Given the description of an element on the screen output the (x, y) to click on. 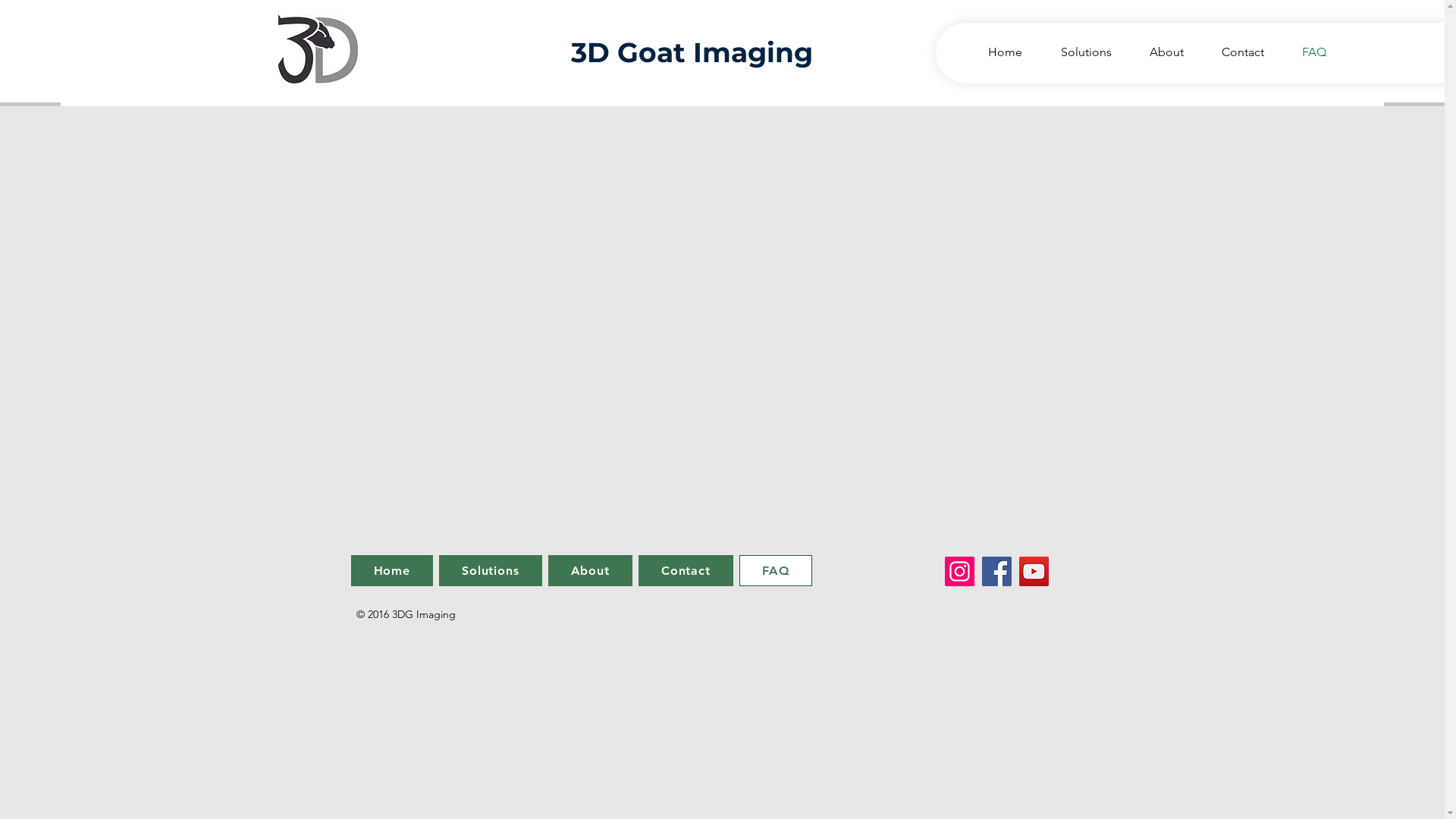
About Element type: text (590, 570)
Solutions Element type: text (490, 570)
Home Element type: text (996, 51)
Contact Element type: text (685, 570)
About Element type: text (1159, 51)
Home Element type: text (391, 570)
FAQ Element type: text (1306, 51)
Solutions Element type: text (1078, 51)
Landon Logo.jpg Element type: hover (317, 48)
Contact Element type: text (1235, 51)
FAQ Element type: text (775, 570)
